Given the description of an element on the screen output the (x, y) to click on. 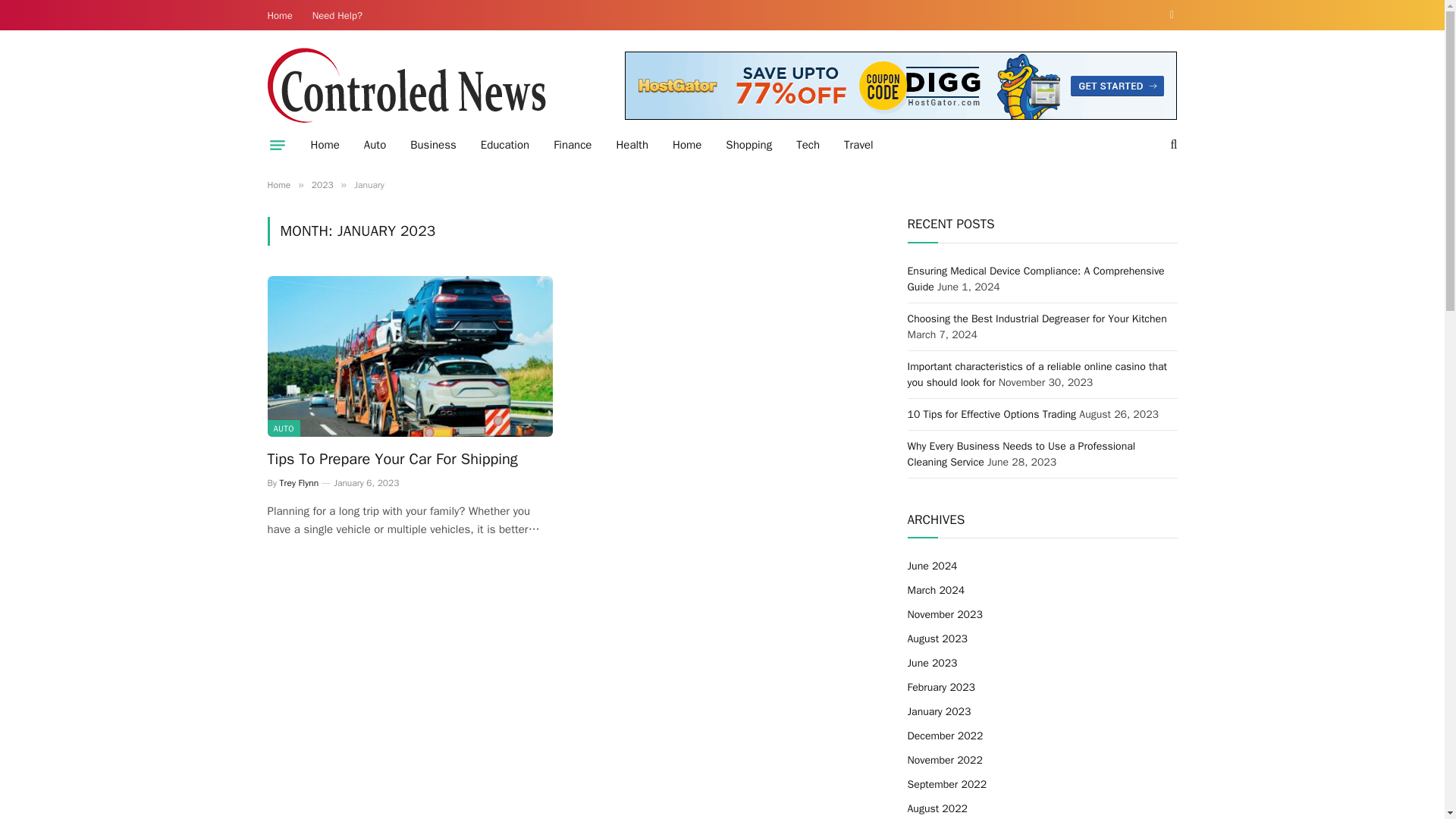
Auto (374, 144)
Finance (572, 144)
Shopping (748, 144)
Education (504, 144)
Home (687, 144)
Posts by Trey Flynn (298, 482)
Switch to Dark Design - easier on eyes. (1169, 14)
Business (432, 144)
Home (279, 15)
Need Help? (337, 15)
Health (632, 144)
Travel (858, 144)
Home (325, 144)
Tips To Prepare Your Car For Shipping (408, 356)
Tech (807, 144)
